Given the description of an element on the screen output the (x, y) to click on. 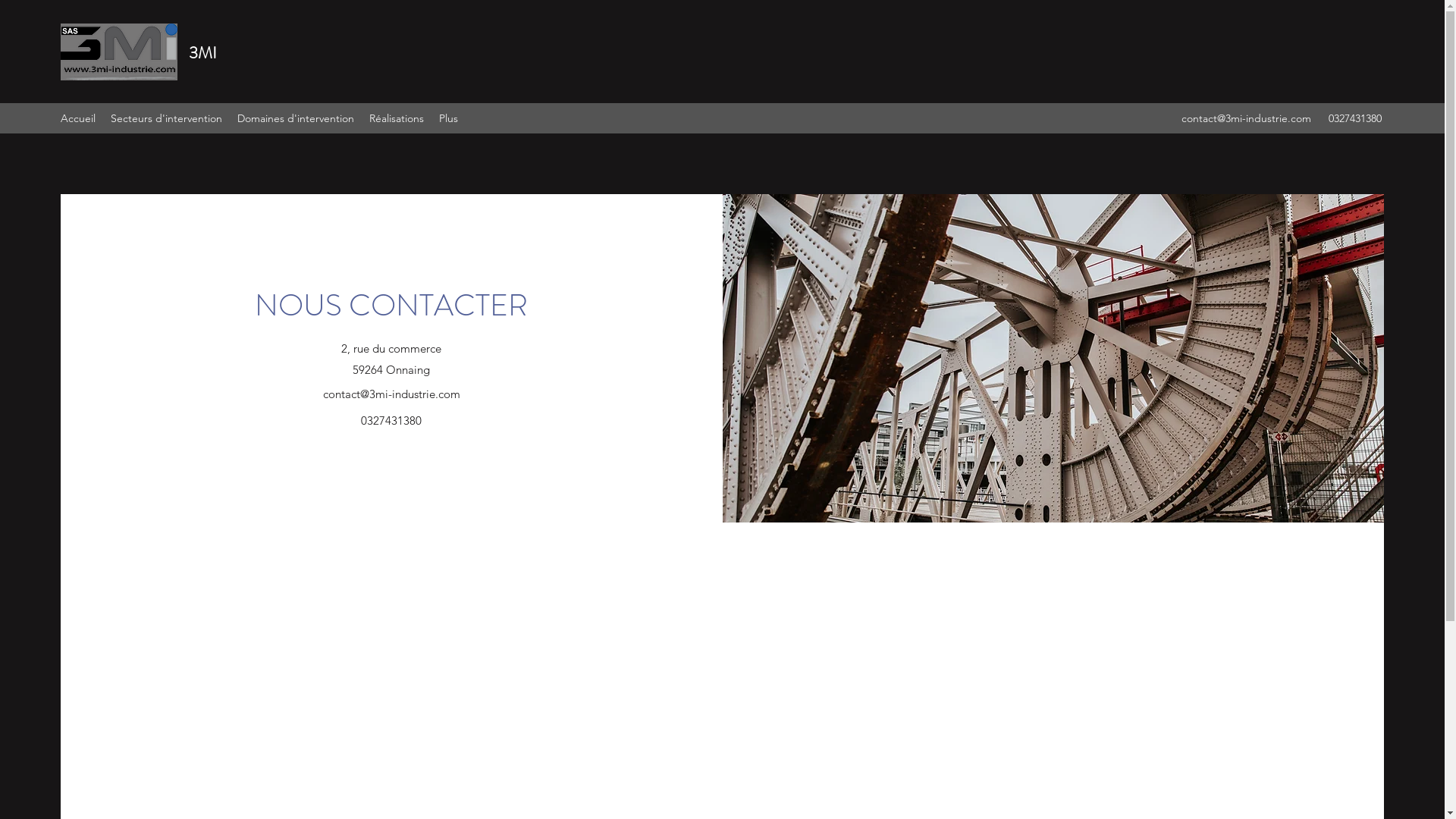
Accueil Element type: text (78, 117)
contact@3mi-industrie.com Element type: text (1246, 118)
3MI Element type: text (202, 52)
Secteurs d'intervention Element type: text (166, 117)
contact@3mi-industrie.com Element type: text (391, 393)
Domaines d'intervention Element type: text (295, 117)
